Given the description of an element on the screen output the (x, y) to click on. 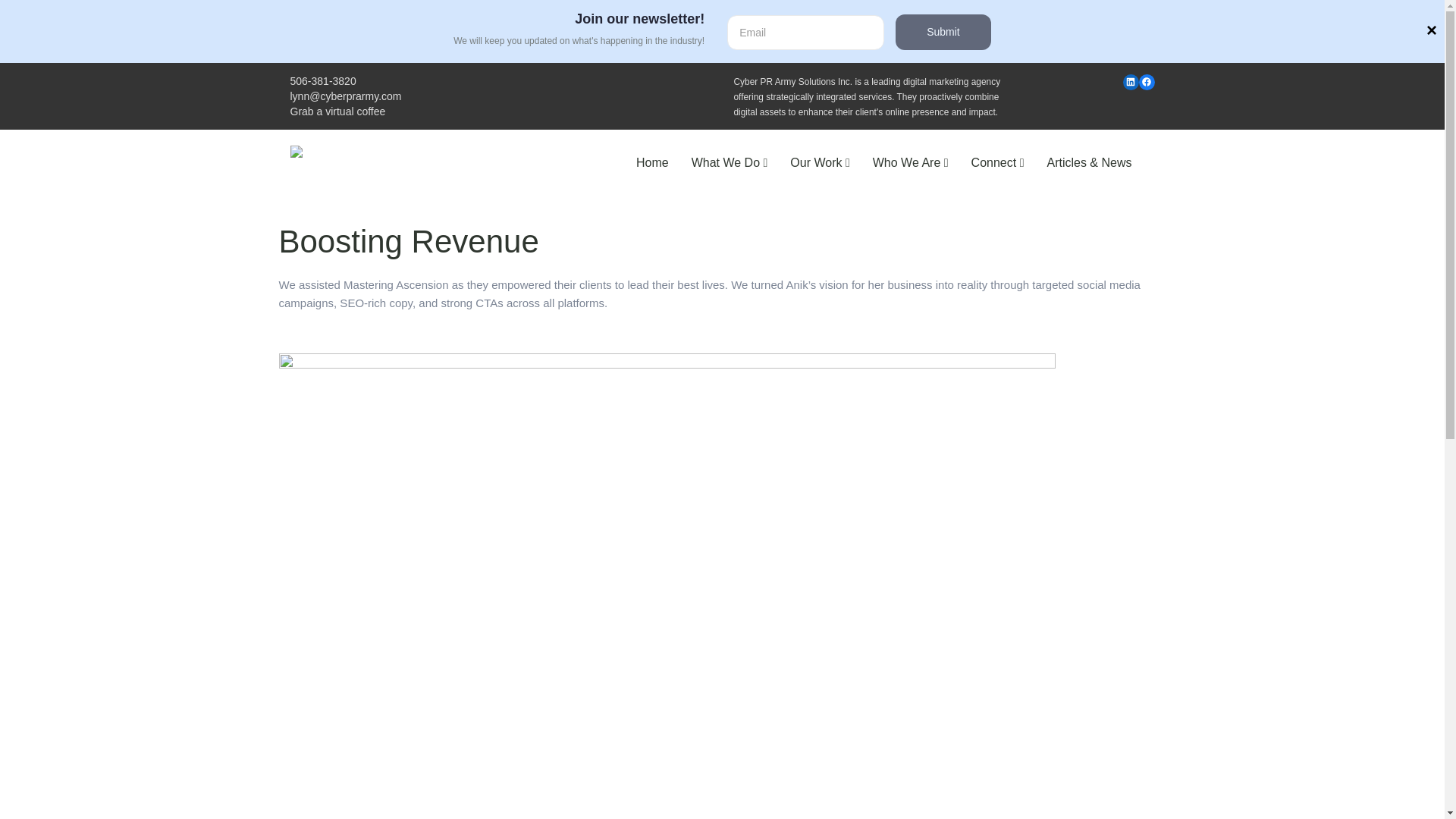
Our Work (819, 162)
Who We Are (910, 162)
Home (651, 162)
Grab a virtual coffee (337, 111)
506-381-3820 (322, 80)
What We Do (728, 162)
